Given the description of an element on the screen output the (x, y) to click on. 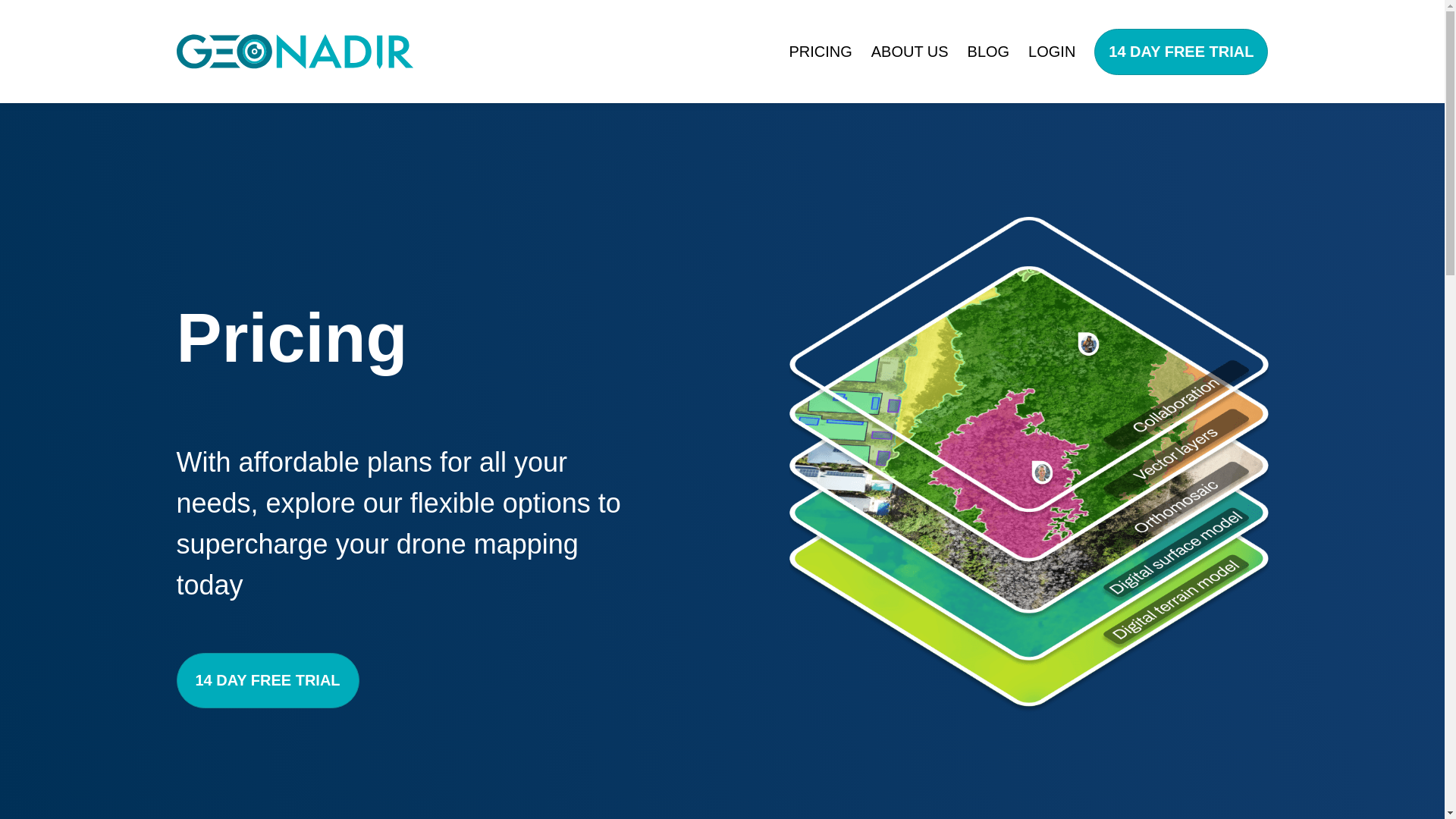
PRICING (820, 51)
14 DAY FREE TRIAL (1181, 51)
LOGIN (1051, 51)
14 DAY FREE TRIAL (267, 680)
ABOUT US (909, 51)
BLOG (989, 51)
